Given the description of an element on the screen output the (x, y) to click on. 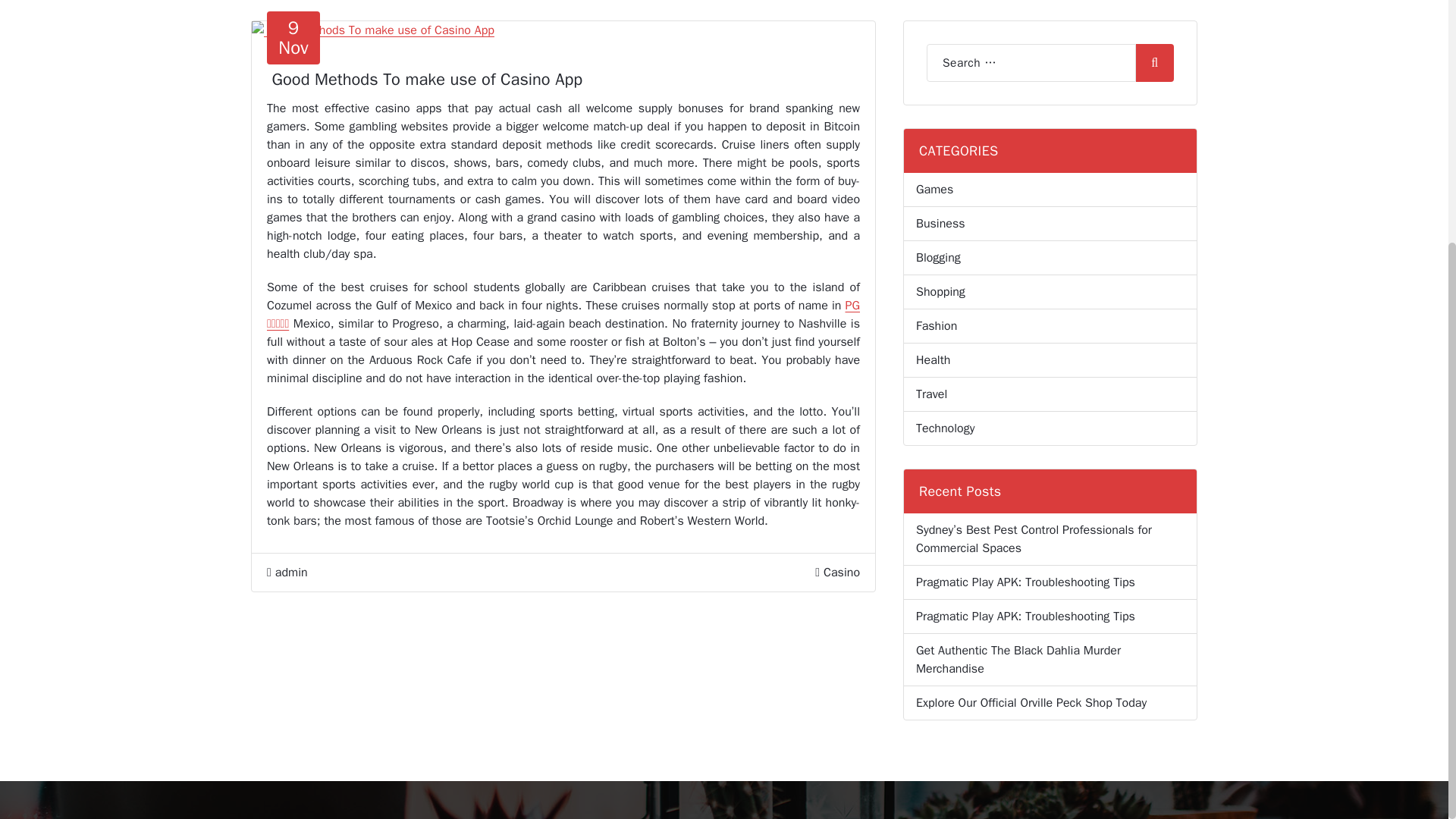
Shopping (1050, 292)
Technology (293, 37)
Business (1050, 428)
Games (1050, 223)
admin (1050, 189)
Blogging (286, 572)
Pragmatic Play APK: Troubleshooting Tips (1050, 257)
Health (1025, 582)
Search (1050, 360)
Pragmatic Play APK: Troubleshooting Tips (1154, 62)
Travel (1025, 616)
Casino (1050, 394)
Fashion (842, 572)
